Given the description of an element on the screen output the (x, y) to click on. 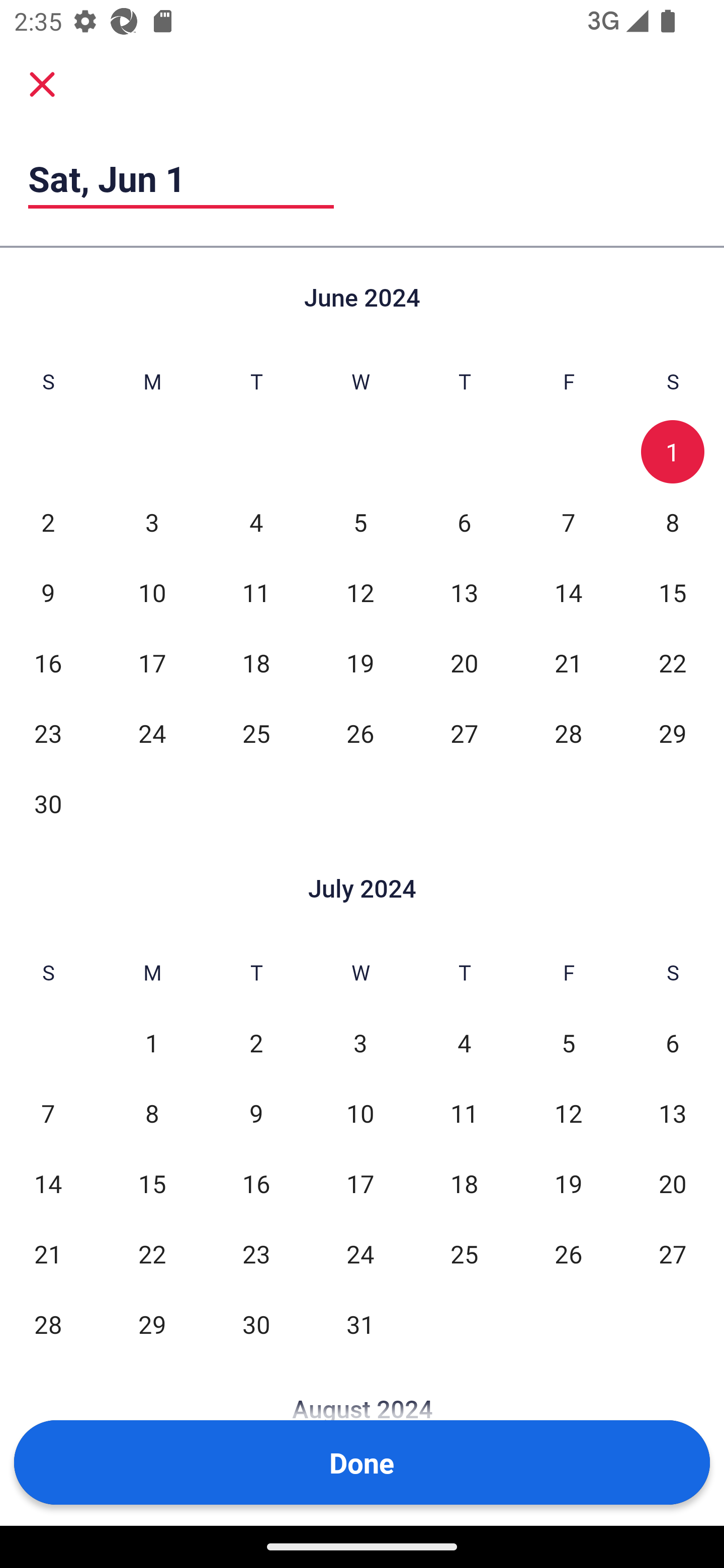
Cancel (41, 83)
Sat, Jun 1 (180, 178)
1 Sat, Jun 1, Selected (672, 452)
2 Sun, Jun 2, Not Selected (48, 521)
3 Mon, Jun 3, Not Selected (152, 521)
4 Tue, Jun 4, Not Selected (256, 521)
5 Wed, Jun 5, Not Selected (360, 521)
6 Thu, Jun 6, Not Selected (464, 521)
7 Fri, Jun 7, Not Selected (568, 521)
8 Sat, Jun 8, Not Selected (672, 521)
9 Sun, Jun 9, Not Selected (48, 591)
10 Mon, Jun 10, Not Selected (152, 591)
11 Tue, Jun 11, Not Selected (256, 591)
12 Wed, Jun 12, Not Selected (360, 591)
13 Thu, Jun 13, Not Selected (464, 591)
14 Fri, Jun 14, Not Selected (568, 591)
15 Sat, Jun 15, Not Selected (672, 591)
16 Sun, Jun 16, Not Selected (48, 662)
17 Mon, Jun 17, Not Selected (152, 662)
18 Tue, Jun 18, Not Selected (256, 662)
19 Wed, Jun 19, Not Selected (360, 662)
20 Thu, Jun 20, Not Selected (464, 662)
21 Fri, Jun 21, Not Selected (568, 662)
22 Sat, Jun 22, Not Selected (672, 662)
23 Sun, Jun 23, Not Selected (48, 732)
24 Mon, Jun 24, Not Selected (152, 732)
25 Tue, Jun 25, Not Selected (256, 732)
26 Wed, Jun 26, Not Selected (360, 732)
27 Thu, Jun 27, Not Selected (464, 732)
28 Fri, Jun 28, Not Selected (568, 732)
29 Sat, Jun 29, Not Selected (672, 732)
30 Sun, Jun 30, Not Selected (48, 803)
1 Mon, Jul 1, Not Selected (152, 1043)
2 Tue, Jul 2, Not Selected (256, 1043)
3 Wed, Jul 3, Not Selected (360, 1043)
4 Thu, Jul 4, Not Selected (464, 1043)
5 Fri, Jul 5, Not Selected (568, 1043)
6 Sat, Jul 6, Not Selected (672, 1043)
7 Sun, Jul 7, Not Selected (48, 1112)
8 Mon, Jul 8, Not Selected (152, 1112)
9 Tue, Jul 9, Not Selected (256, 1112)
10 Wed, Jul 10, Not Selected (360, 1112)
11 Thu, Jul 11, Not Selected (464, 1112)
12 Fri, Jul 12, Not Selected (568, 1112)
13 Sat, Jul 13, Not Selected (672, 1112)
14 Sun, Jul 14, Not Selected (48, 1182)
15 Mon, Jul 15, Not Selected (152, 1182)
16 Tue, Jul 16, Not Selected (256, 1182)
17 Wed, Jul 17, Not Selected (360, 1182)
18 Thu, Jul 18, Not Selected (464, 1182)
19 Fri, Jul 19, Not Selected (568, 1182)
20 Sat, Jul 20, Not Selected (672, 1182)
21 Sun, Jul 21, Not Selected (48, 1253)
22 Mon, Jul 22, Not Selected (152, 1253)
23 Tue, Jul 23, Not Selected (256, 1253)
24 Wed, Jul 24, Not Selected (360, 1253)
25 Thu, Jul 25, Not Selected (464, 1253)
26 Fri, Jul 26, Not Selected (568, 1253)
27 Sat, Jul 27, Not Selected (672, 1253)
28 Sun, Jul 28, Not Selected (48, 1323)
29 Mon, Jul 29, Not Selected (152, 1323)
30 Tue, Jul 30, Not Selected (256, 1323)
31 Wed, Jul 31, Not Selected (360, 1323)
Done Button Done (361, 1462)
